Given the description of an element on the screen output the (x, y) to click on. 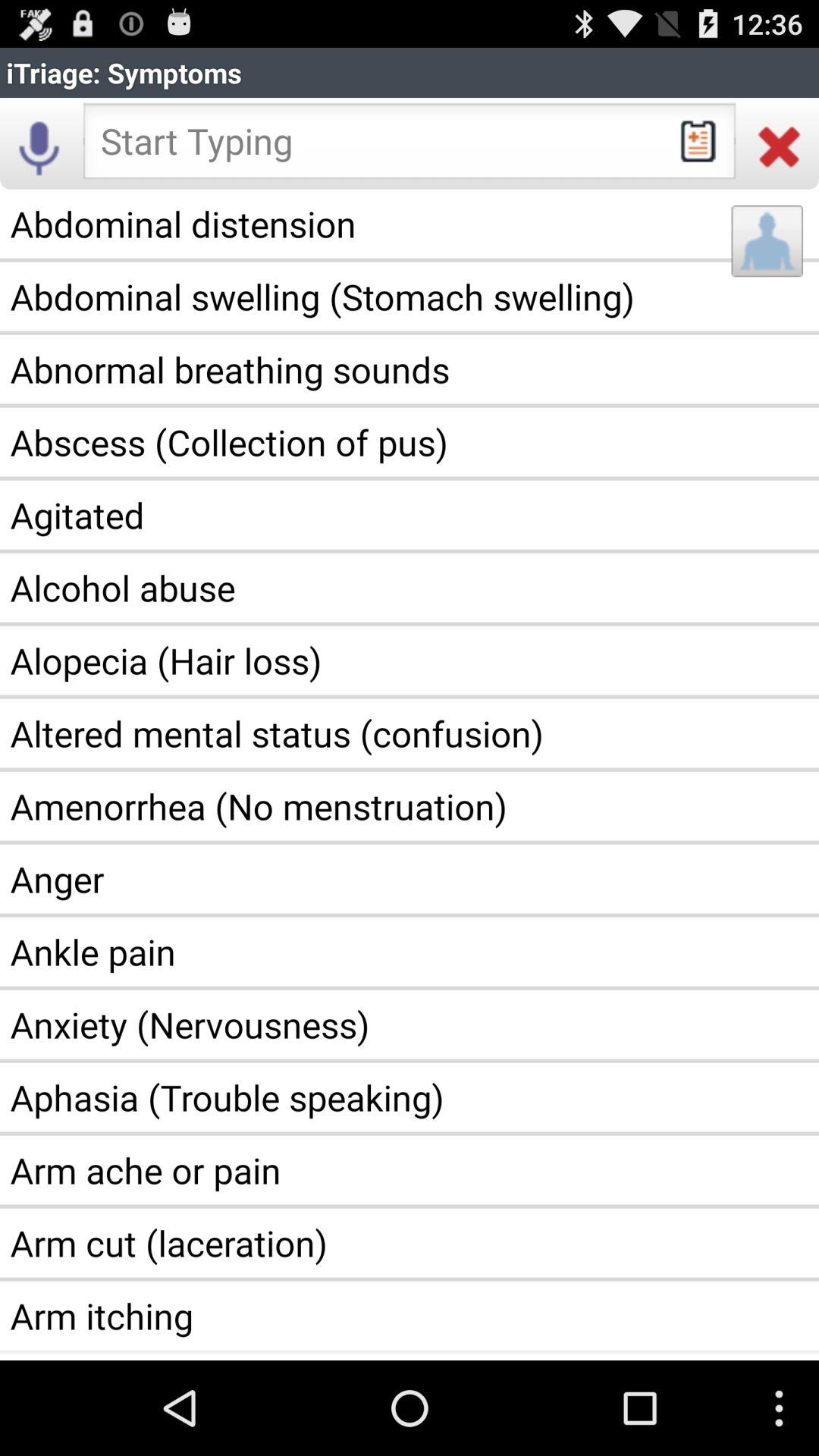
turn on the ankle pain app (409, 951)
